Given the description of an element on the screen output the (x, y) to click on. 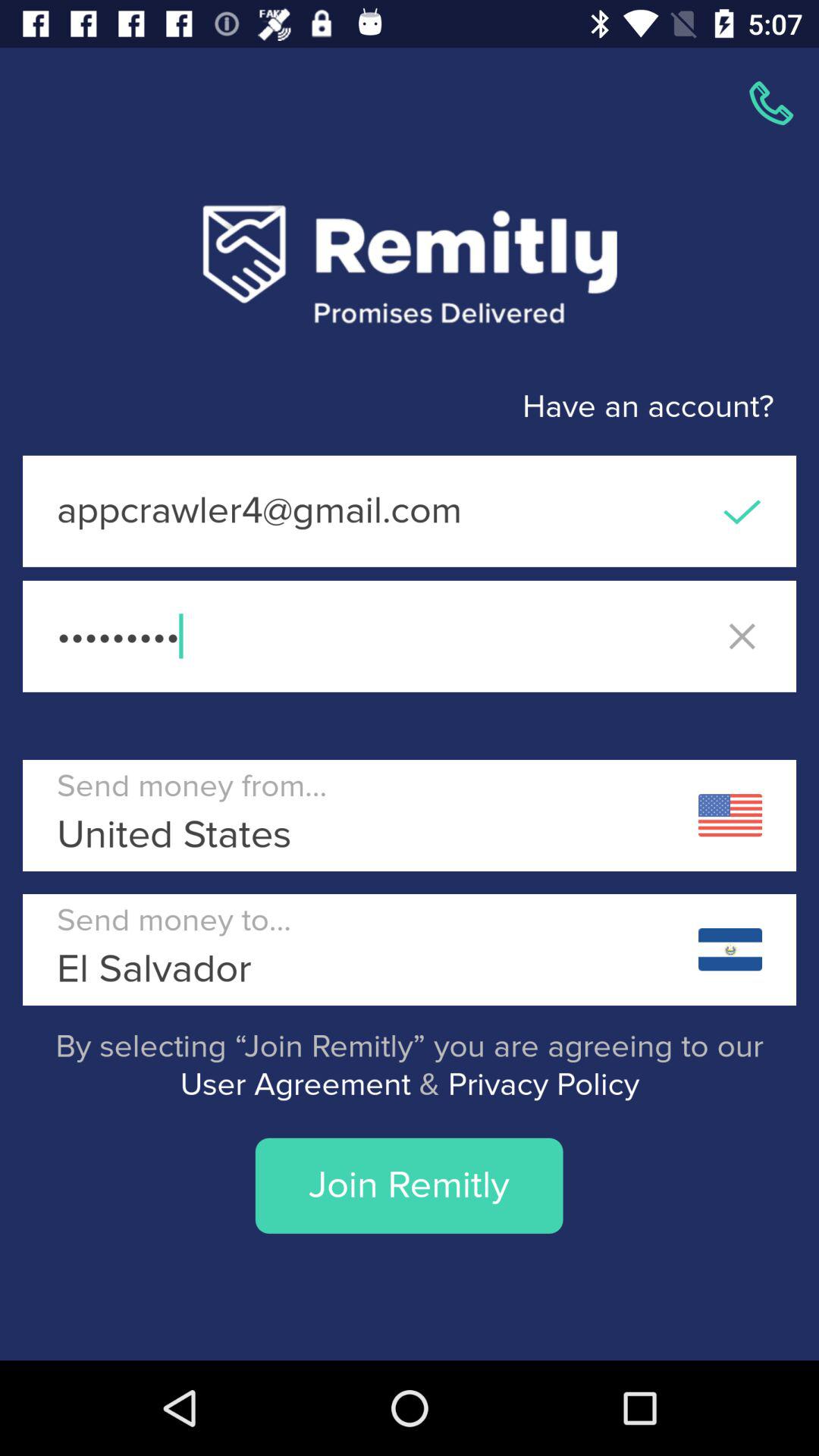
turn on the have an account? app (387, 406)
